Given the description of an element on the screen output the (x, y) to click on. 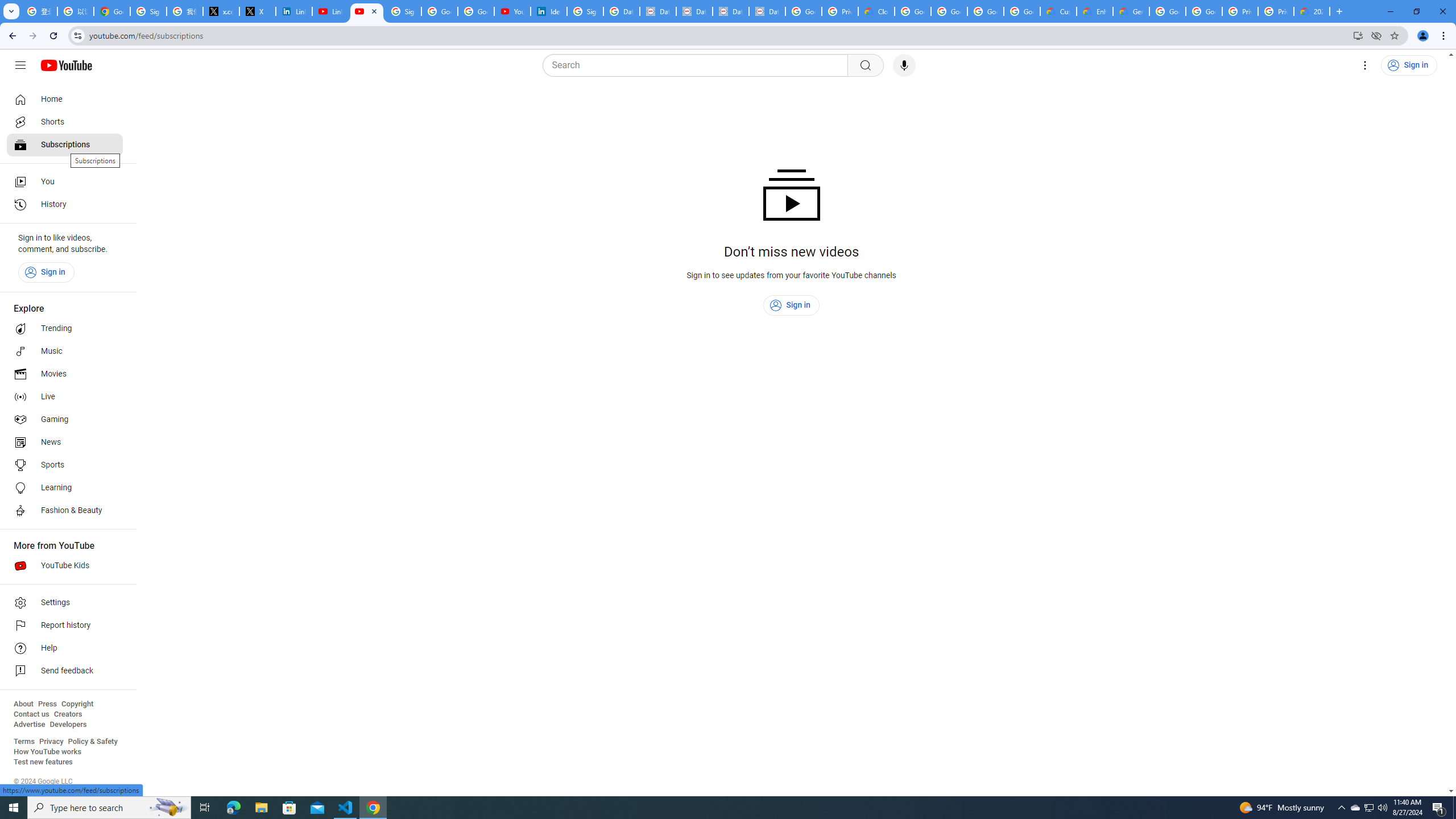
Shorts (64, 121)
Policy & Safety (91, 741)
Customer Care | Google Cloud (1058, 11)
Creators (67, 714)
Cloud Data Processing Addendum | Google Cloud (876, 11)
Data Privacy Framework (694, 11)
Google Workspace - Specific Terms (1021, 11)
How YouTube works (47, 751)
